Given the description of an element on the screen output the (x, y) to click on. 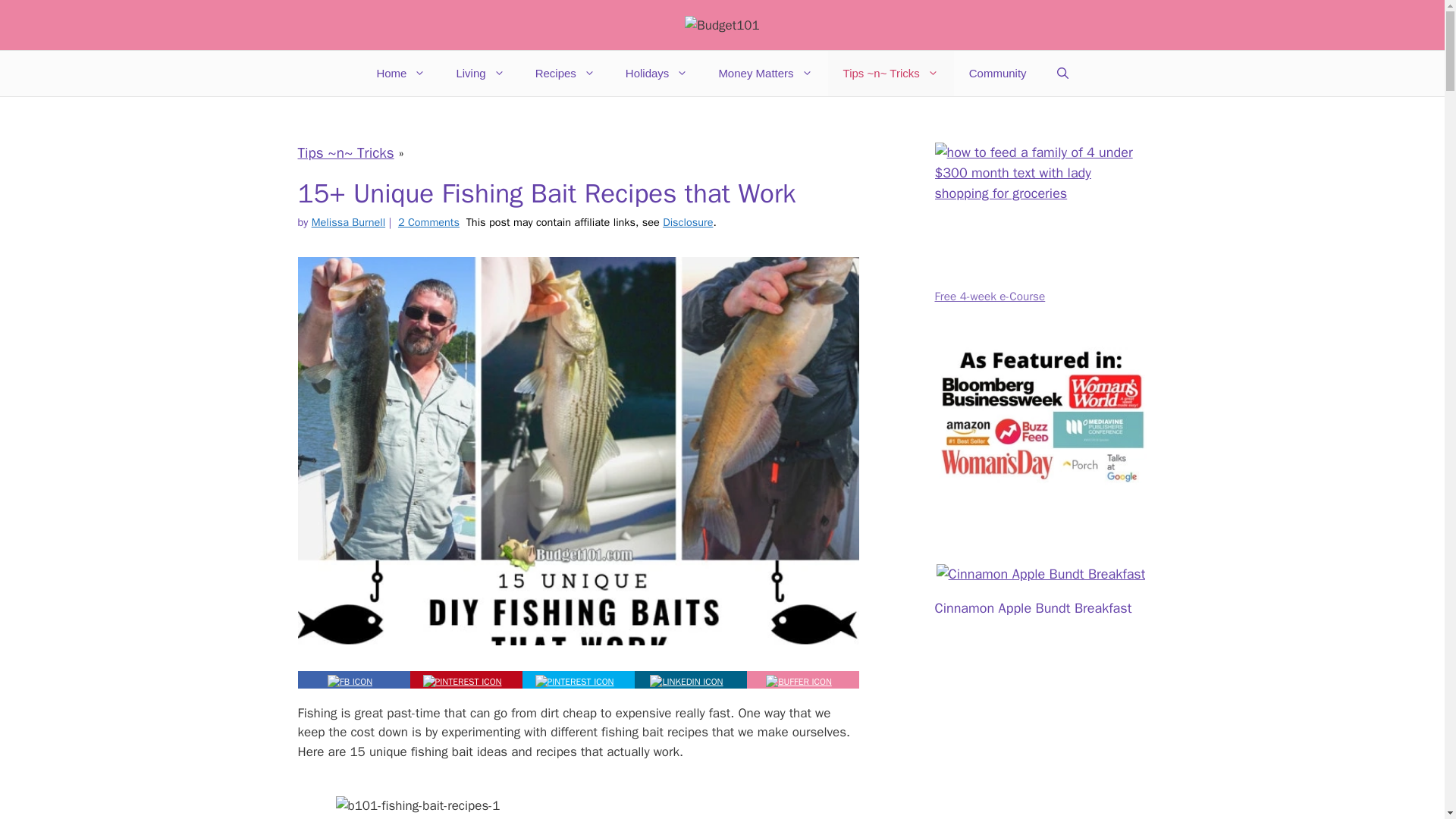
Holidays (656, 73)
b101 fishing bait recipes 1 (577, 807)
Home (401, 73)
Budget101 (722, 25)
Budget101 (722, 24)
Living (480, 73)
View all posts by Melissa Burnell (348, 222)
Recipes (564, 73)
